Given the description of an element on the screen output the (x, y) to click on. 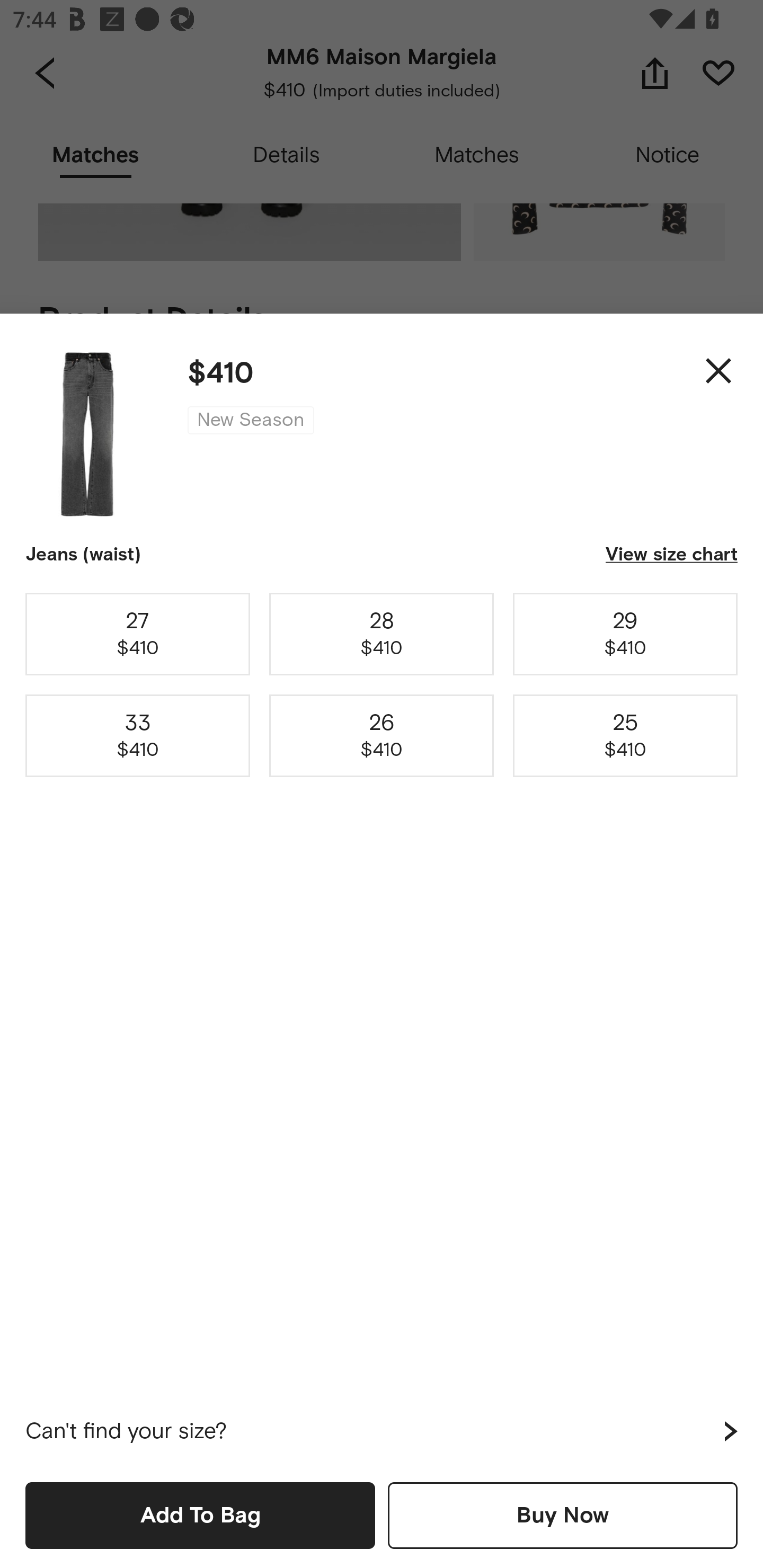
27 $410 (137, 633)
28 $410 (381, 633)
29 $410 (624, 633)
33 $410 (137, 735)
26 $410 (381, 735)
25 $410 (624, 735)
Can't find your size? (381, 1431)
Add To Bag (200, 1515)
Buy Now (562, 1515)
